Given the description of an element on the screen output the (x, y) to click on. 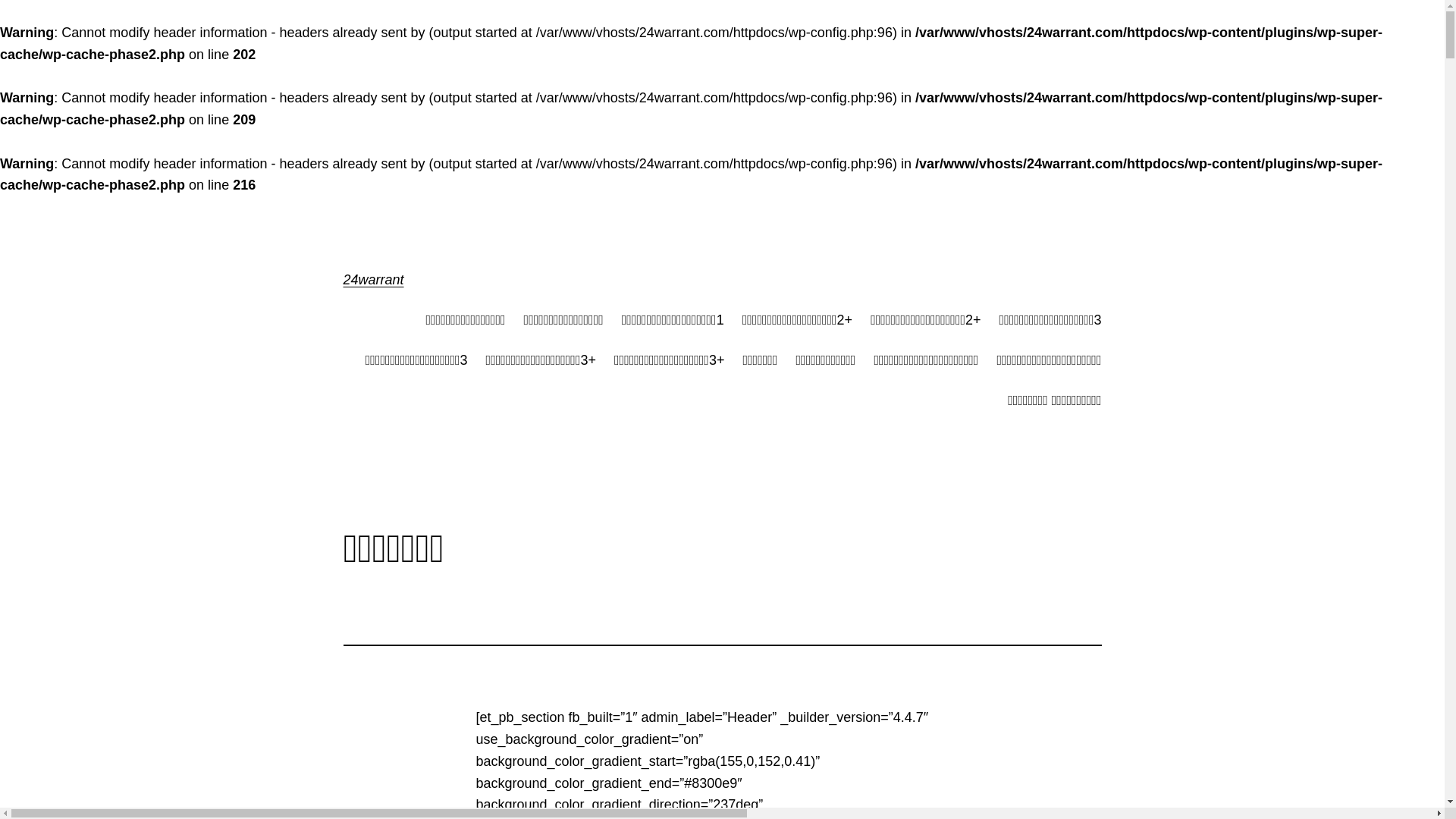
24warrant Element type: text (372, 279)
